Given the description of an element on the screen output the (x, y) to click on. 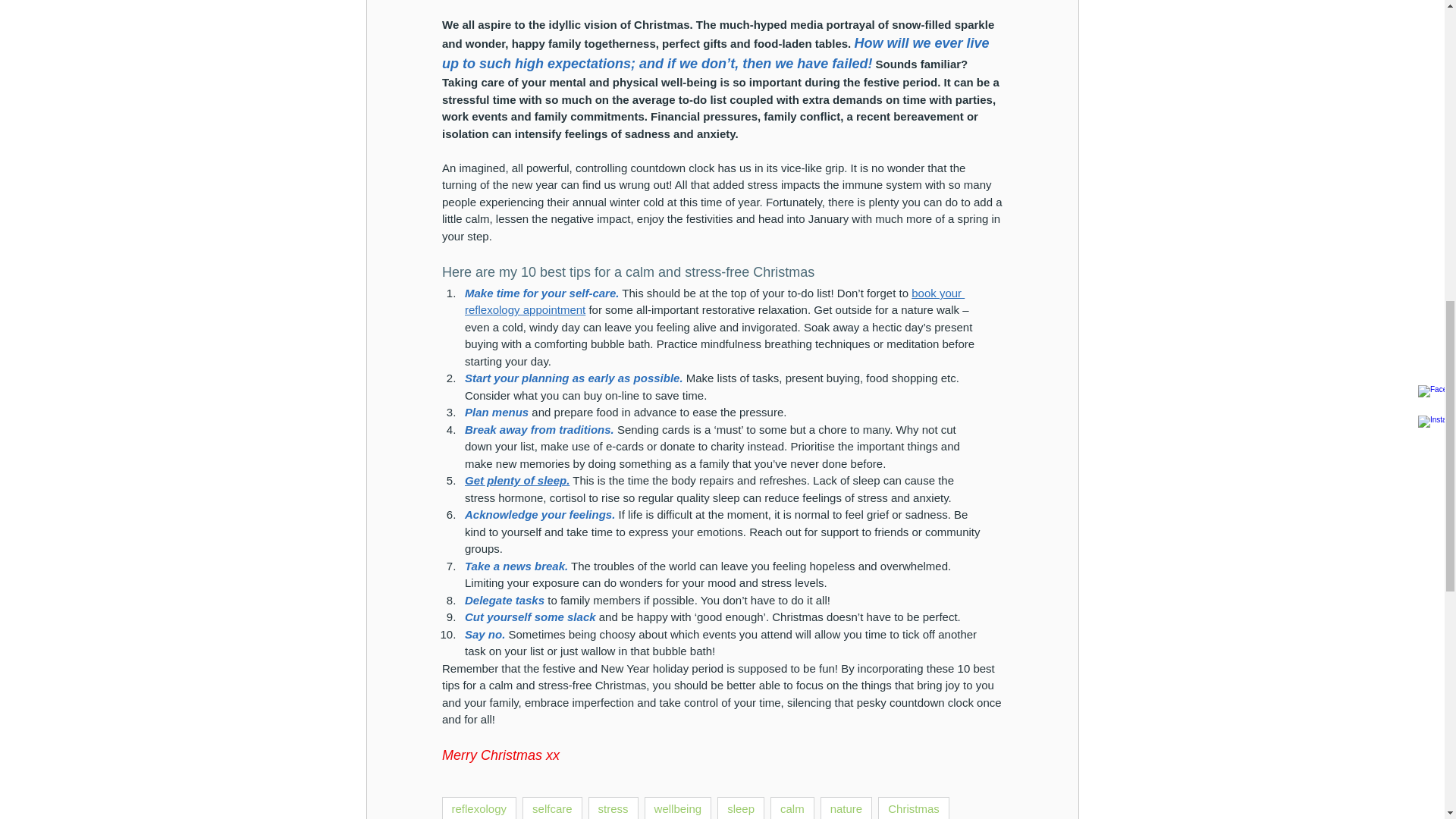
stress (613, 807)
sleep (740, 807)
reflexology (478, 807)
nature (846, 807)
book your reflexology appointment (713, 301)
wellbeing (678, 807)
calm (791, 807)
Get plenty of sleep. (516, 480)
selfcare (552, 807)
